Given the description of an element on the screen output the (x, y) to click on. 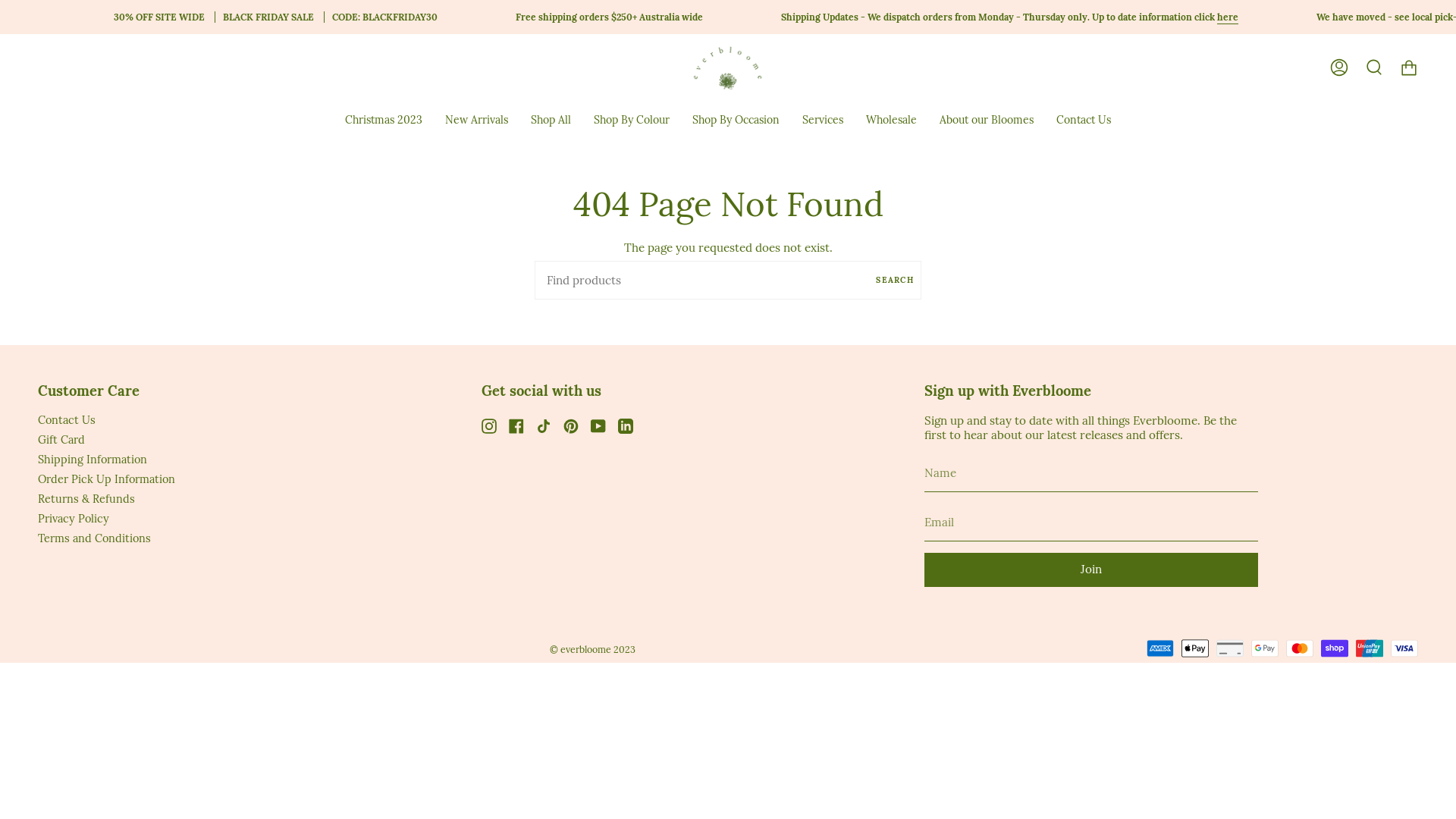
Contact Us Element type: text (1083, 119)
About our Bloomes Element type: text (986, 119)
Christmas 2023 Element type: text (383, 119)
New Arrivals Element type: text (476, 119)
Wholesale Element type: text (891, 119)
Shop By Colour Element type: text (631, 119)
Pinterest Element type: text (570, 424)
Gift Card Element type: text (60, 439)
Order Pick Up Information Element type: text (106, 479)
Shop All Element type: text (550, 119)
Account Element type: text (1338, 67)
Facebook Element type: text (516, 424)
Join Element type: text (1091, 569)
TikTok Element type: text (543, 424)
SEARCH Element type: text (894, 279)
Search Element type: text (1373, 67)
Shop By Occasion Element type: text (735, 119)
Linkedin Element type: text (625, 424)
Terms and Conditions Element type: text (93, 538)
Shipping Information Element type: text (92, 459)
Services Element type: text (822, 119)
YouTube Element type: text (597, 424)
Instagram Element type: text (488, 424)
Cart Element type: text (1408, 67)
Returns & Refunds Element type: text (85, 498)
Privacy Policy Element type: text (73, 518)
Contact Us Element type: text (66, 419)
here Element type: text (1226, 16)
